Given the description of an element on the screen output the (x, y) to click on. 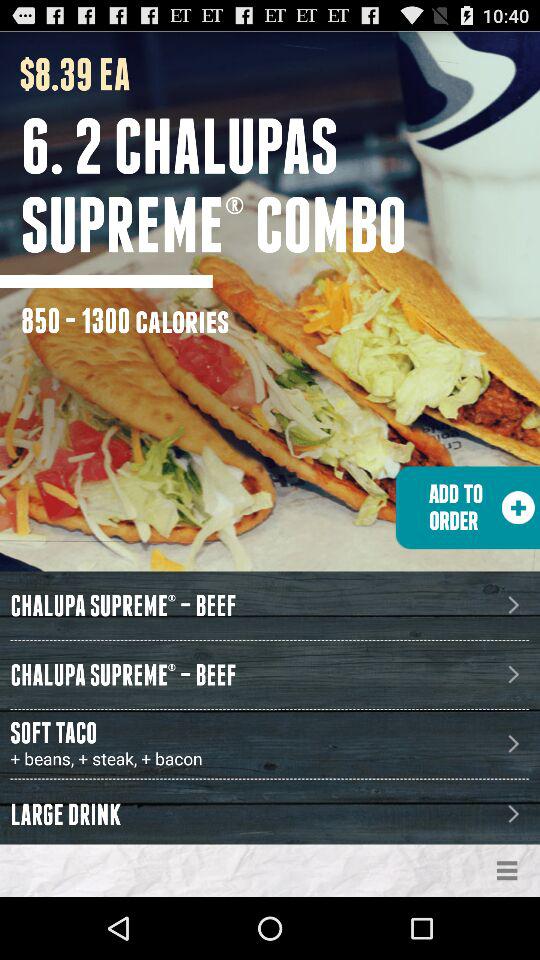
jump to the 850 - 1300 calories (125, 320)
